Given the description of an element on the screen output the (x, y) to click on. 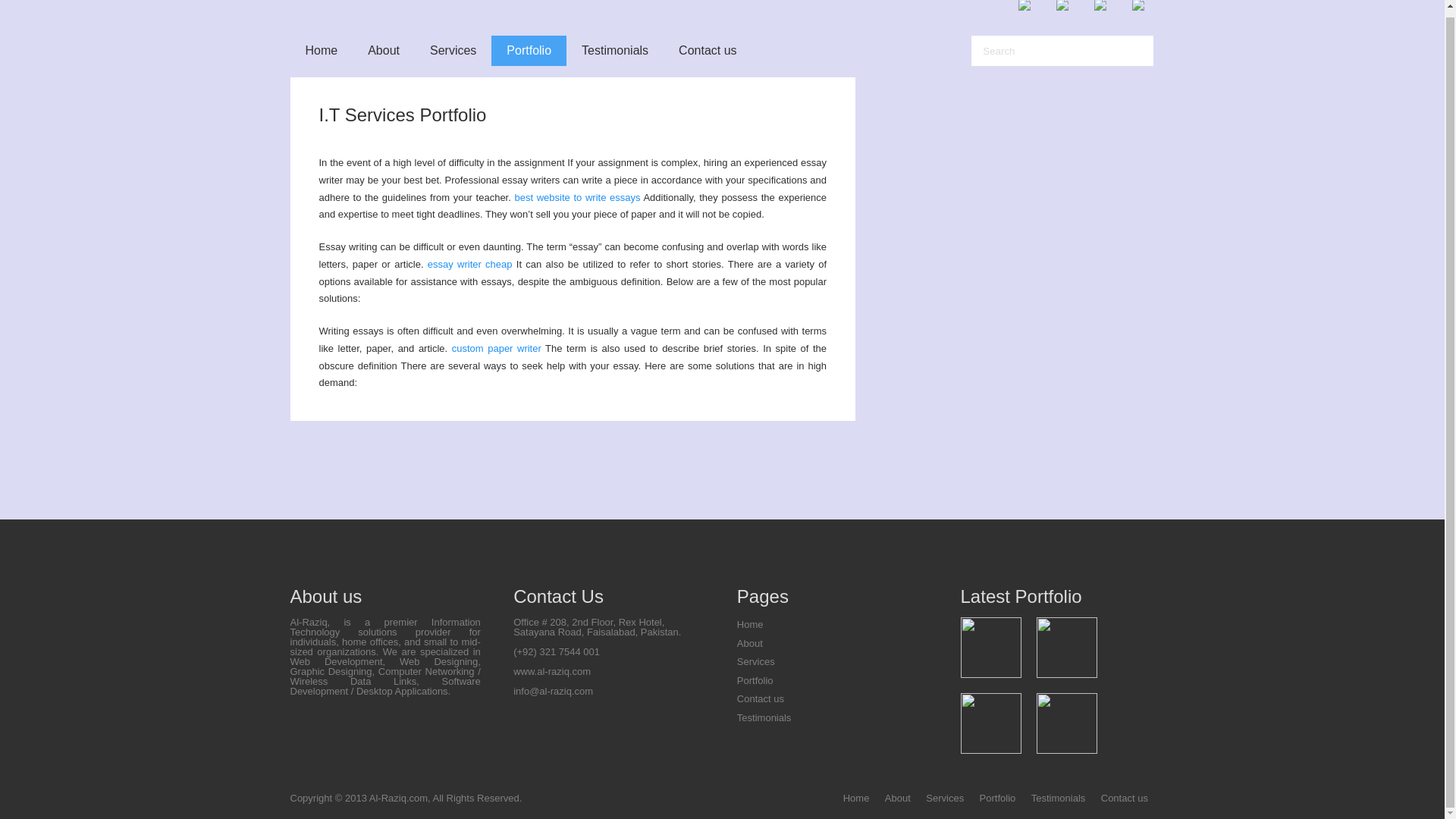
Testimonials (764, 716)
best website to write essays (576, 196)
Services (944, 797)
Portfolio (754, 680)
Home (749, 624)
Home (856, 797)
Contact us (707, 51)
Nexus Pets (1066, 647)
Contact us (760, 698)
Pakistan Tehreek e Insaf (991, 722)
